Given the description of an element on the screen output the (x, y) to click on. 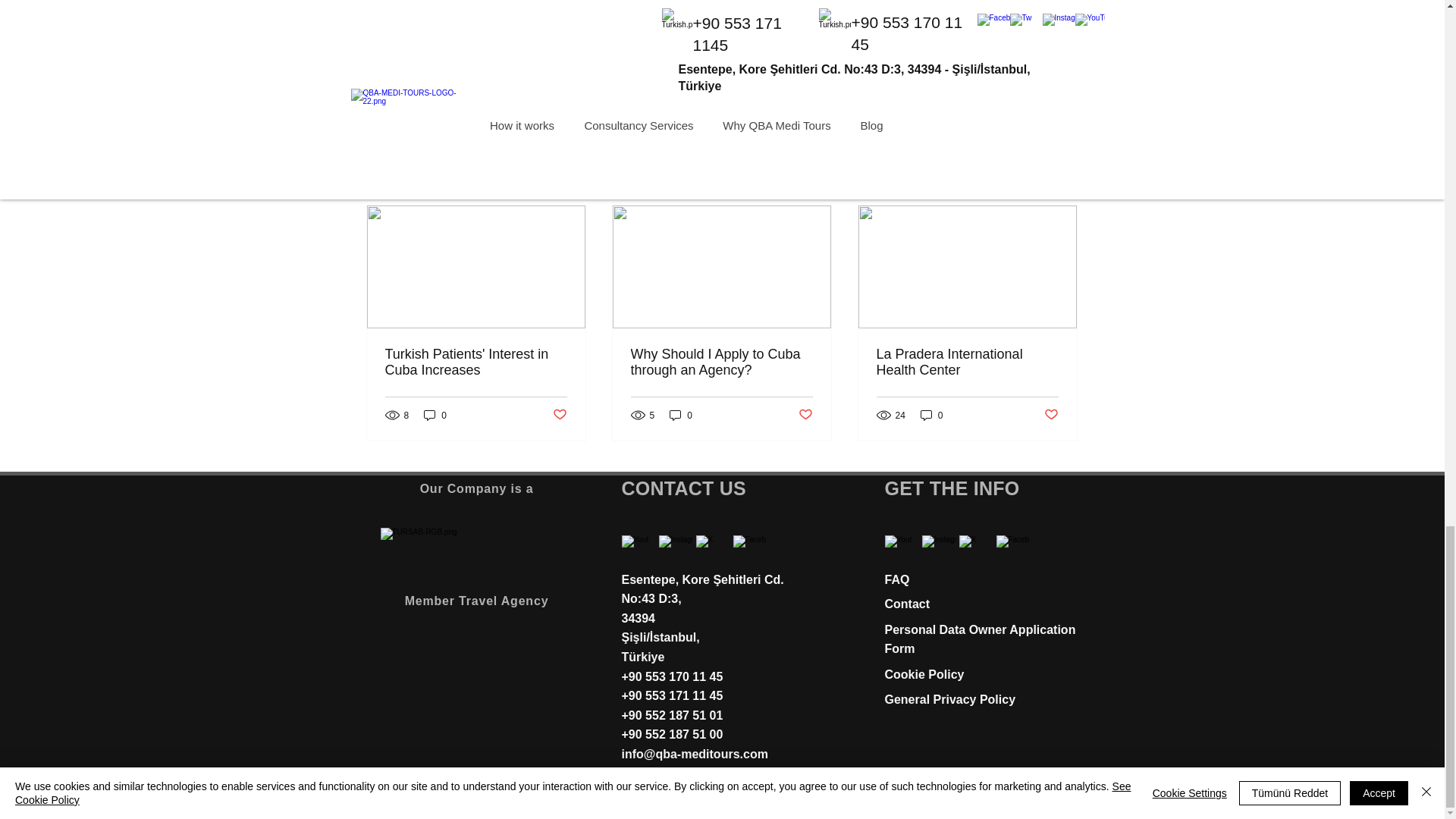
Turkish Patients' Interest in Cuba Increases (476, 362)
Why Should I Apply to Cuba through an Agency? (721, 362)
See All (1061, 178)
0 (681, 414)
La Pradera International Health Center (967, 362)
0 (435, 414)
Post not marked as liked (995, 95)
Post not marked as liked (558, 415)
Post not marked as liked (804, 415)
